Given the description of an element on the screen output the (x, y) to click on. 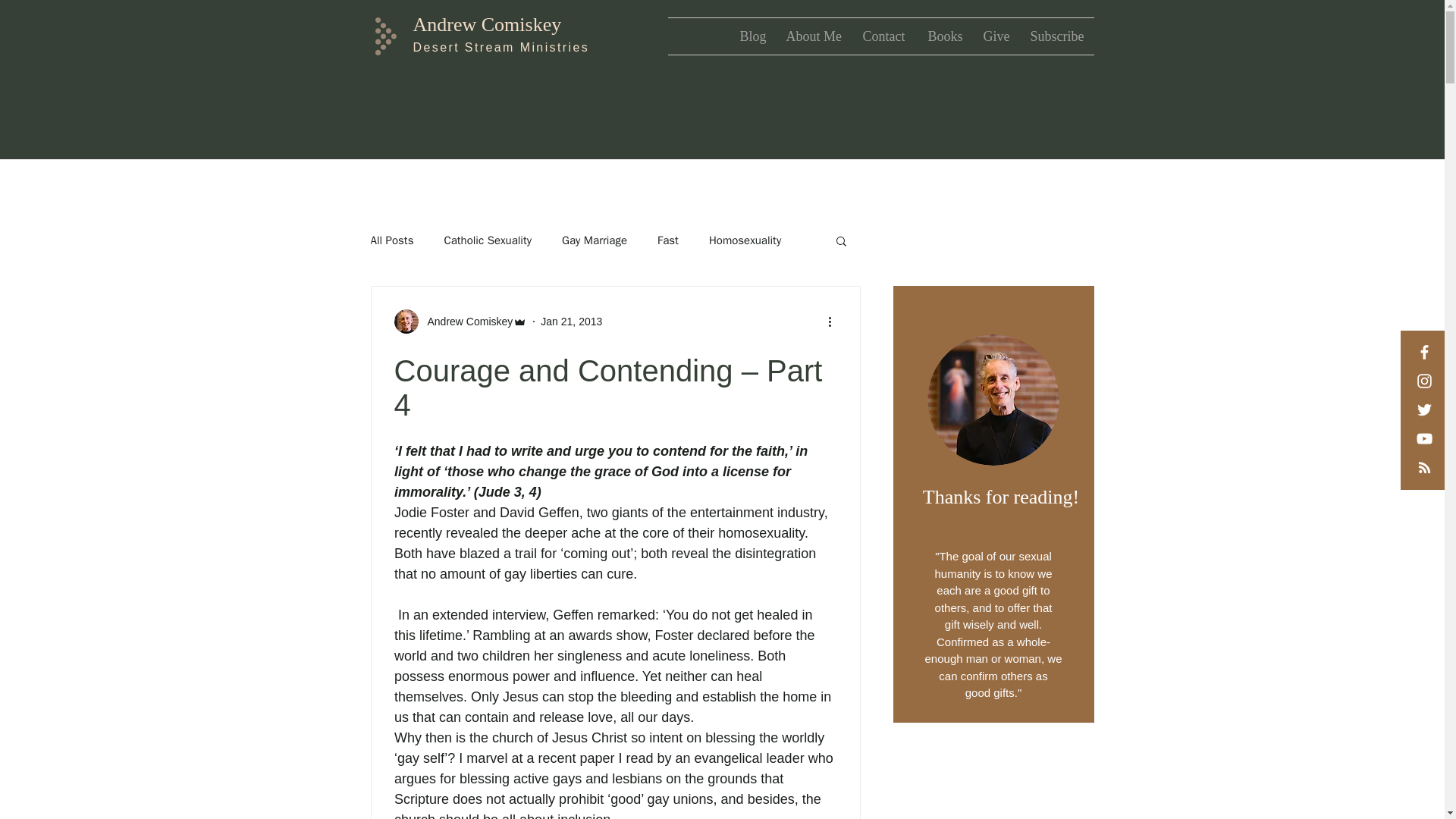
Gay Marriage (594, 240)
Catholic Sexuality (487, 240)
Andrew Comiskey (486, 24)
Subscribe (1056, 36)
Homosexuality (744, 240)
Andrew Comiskey (466, 321)
Desert Stream Ministries (500, 47)
Fast (668, 240)
About Me (812, 36)
Books (943, 36)
Contact (882, 36)
Jan 21, 2013 (571, 321)
Blog (751, 36)
All Posts (391, 240)
Give (995, 36)
